Given the description of an element on the screen output the (x, y) to click on. 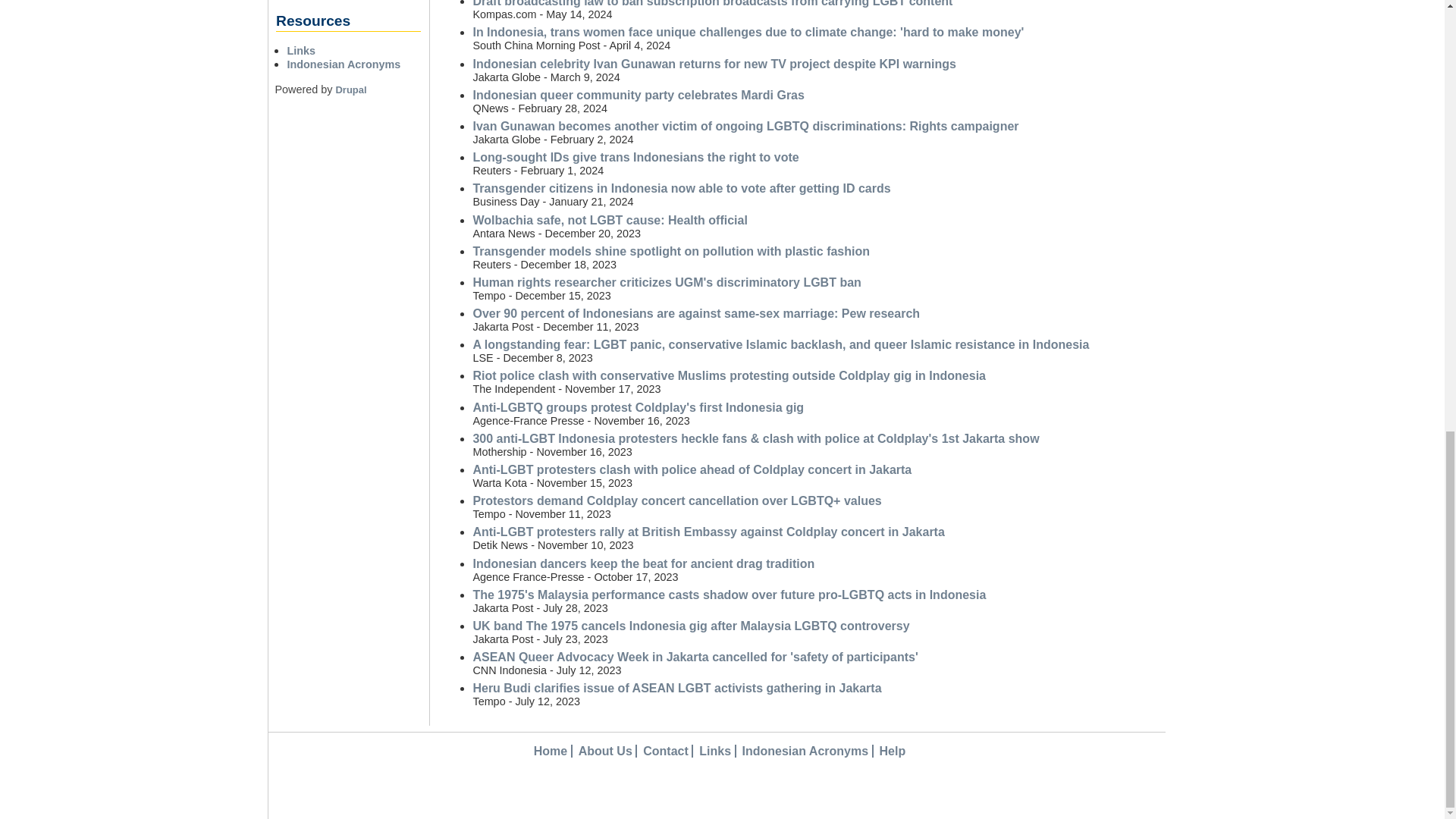
Indonesian queer community party celebrates Mardi Gras (637, 94)
Long-sought IDs give trans Indonesians the right to vote (634, 156)
Wolbachia safe, not LGBT cause: Health official (608, 219)
